Given the description of an element on the screen output the (x, y) to click on. 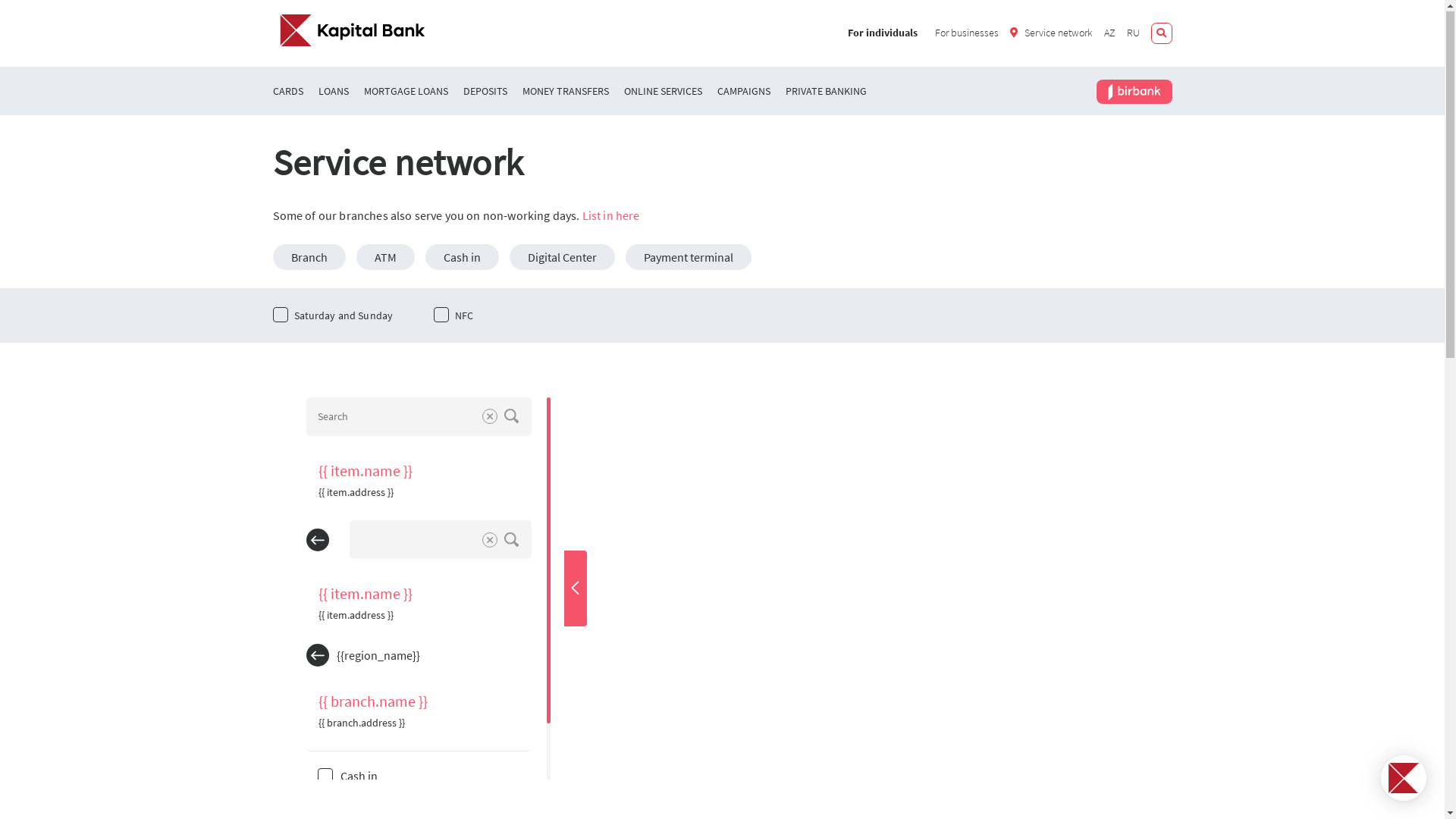
ONLINE SERVICES Element type: text (662, 92)
BirBank Element type: hover (1134, 92)
MONEY TRANSFERS Element type: text (564, 92)
List in here Element type: text (611, 215)
ATM Element type: text (385, 257)
DEPOSITS Element type: text (484, 92)
Digital Center Element type: text (562, 257)
Service network Element type: text (1051, 33)
CAMPAIGNS Element type: text (743, 92)
For individuals Element type: text (879, 33)
PRIVATE BANKING Element type: text (825, 92)
CARDS Element type: text (288, 92)
RU Element type: text (1132, 33)
For businesses Element type: text (962, 33)
MORTGAGE LOANS Element type: text (406, 92)
Payment terminal Element type: text (687, 257)
Branch Element type: text (309, 257)
AZ Element type: text (1109, 33)
LOANS Element type: text (333, 92)
Cash in Element type: text (461, 257)
